Given the description of an element on the screen output the (x, y) to click on. 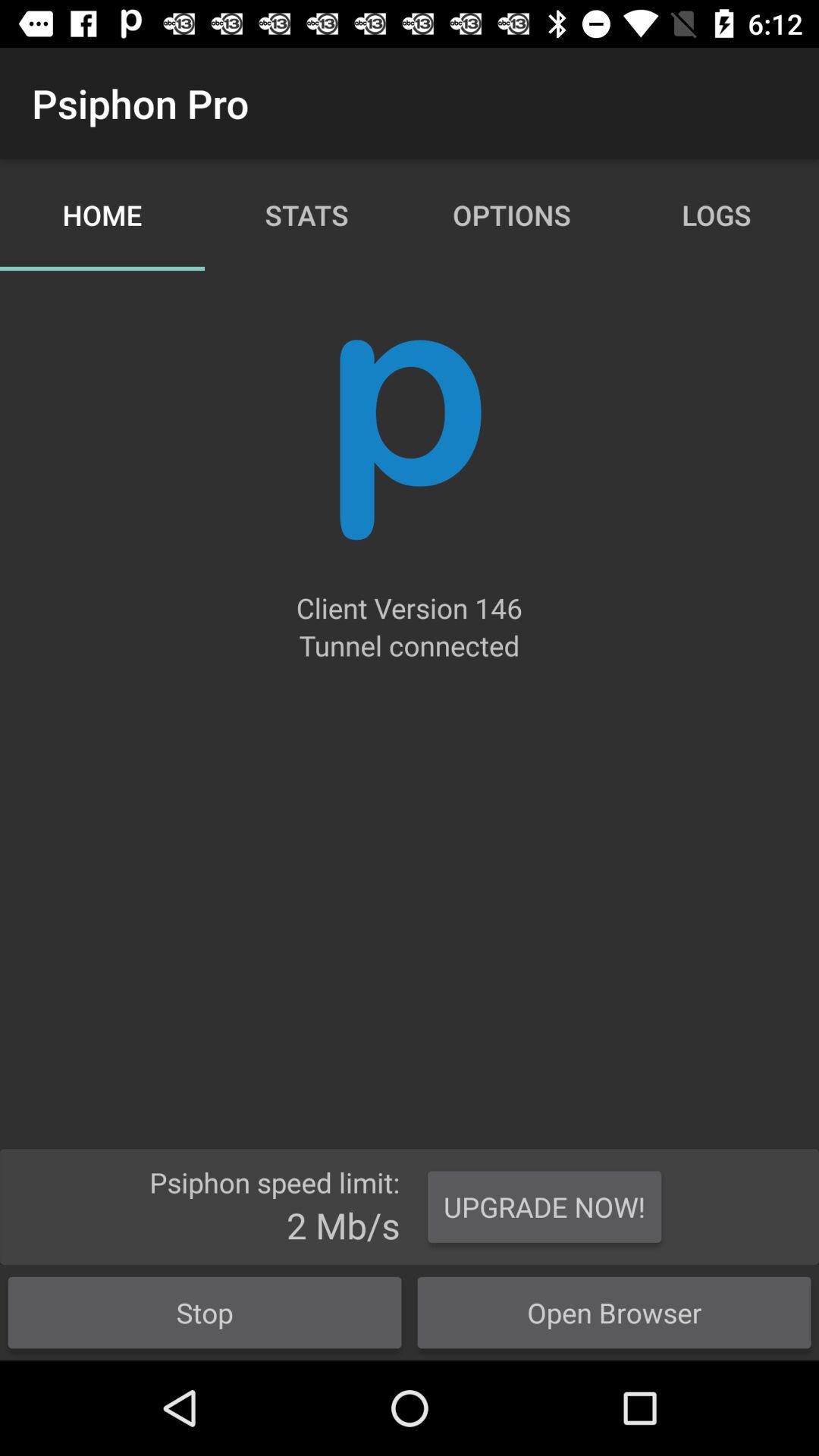
tap the upgrade now! item (544, 1206)
